Given the description of an element on the screen output the (x, y) to click on. 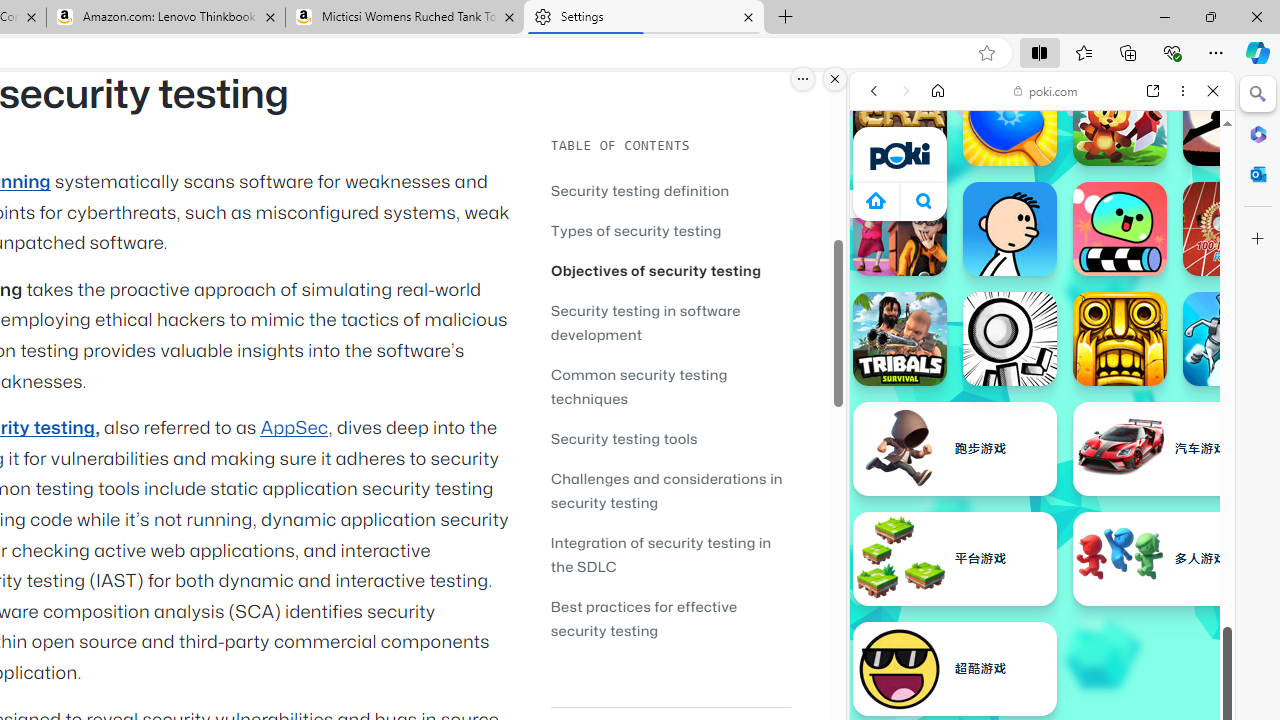
Show More Two Player Games (1164, 570)
Two Player Games (1042, 567)
Class: rCs5cyEiqiTpYvt_VBCR (858, 204)
Poor Eddie Poor Eddie (1009, 228)
G-Switch 3 G-Switch 3 (1229, 338)
Poki (1034, 288)
